Given the description of an element on the screen output the (x, y) to click on. 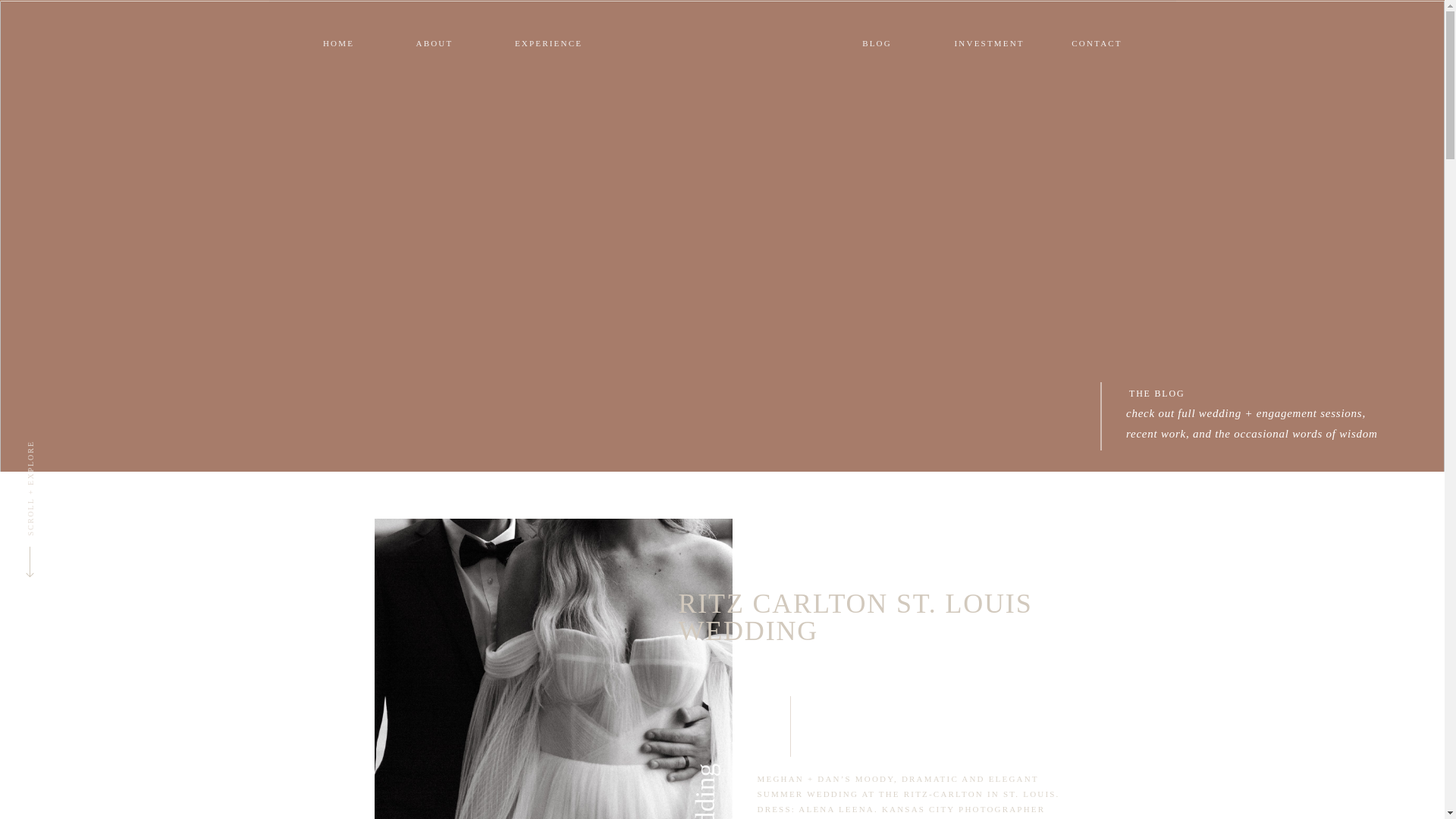
CONTACT (1096, 42)
BLOG (876, 42)
EXPERIENCE (649, 31)
ABOUT (433, 42)
CONTACT (1025, 31)
EXPERIENCE (649, 18)
ABOUT (520, 18)
Ritz Carlton St. Louis Wedding (553, 668)
CONTACT (1025, 18)
BLOG (773, 18)
INVESTMENT (900, 18)
EXPERIENCE (548, 42)
HOME (409, 31)
ABOUT (520, 31)
CONTACT (1025, 18)
